Given the description of an element on the screen output the (x, y) to click on. 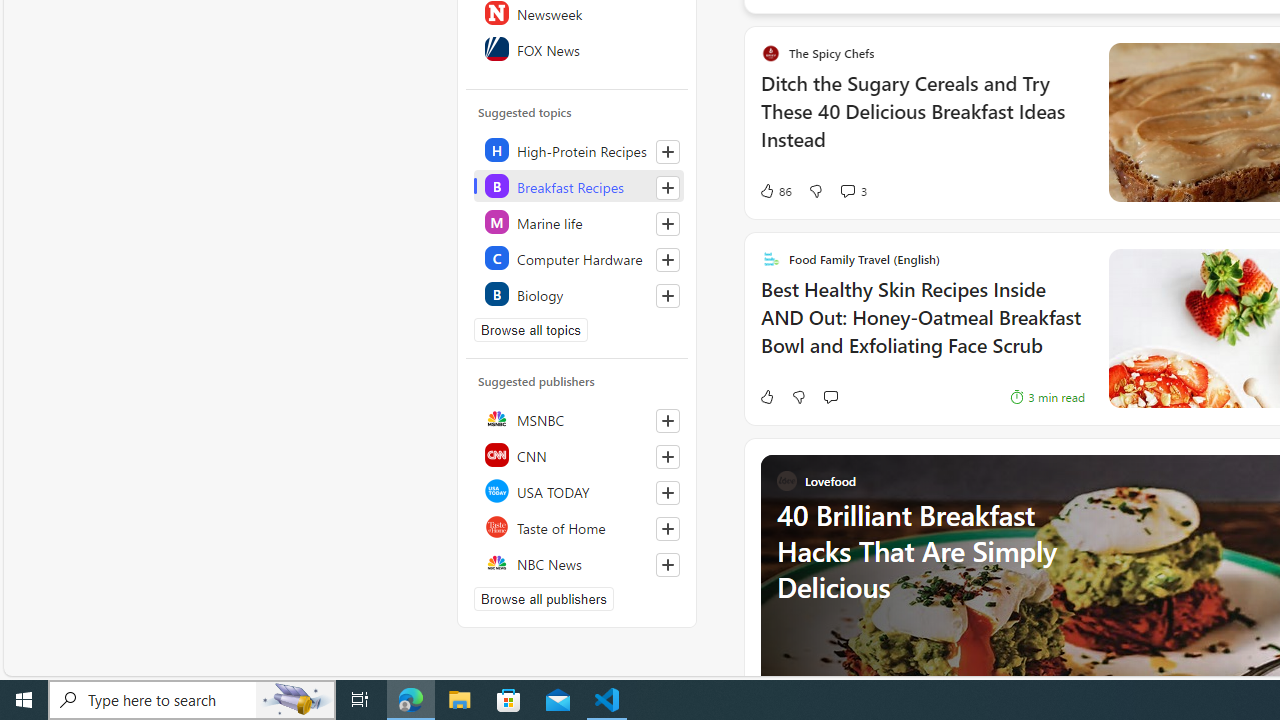
Taste of Home (578, 526)
86 Like (775, 191)
Follow this topic (667, 295)
Dislike (798, 396)
Class: highlight (578, 293)
Follow this topic (667, 295)
USA TODAY (578, 490)
CNN (578, 454)
Class: highlight selected (578, 185)
NBC News (578, 562)
Browse all publishers (543, 598)
Follow this source (667, 564)
Follow this source (667, 564)
